Given the description of an element on the screen output the (x, y) to click on. 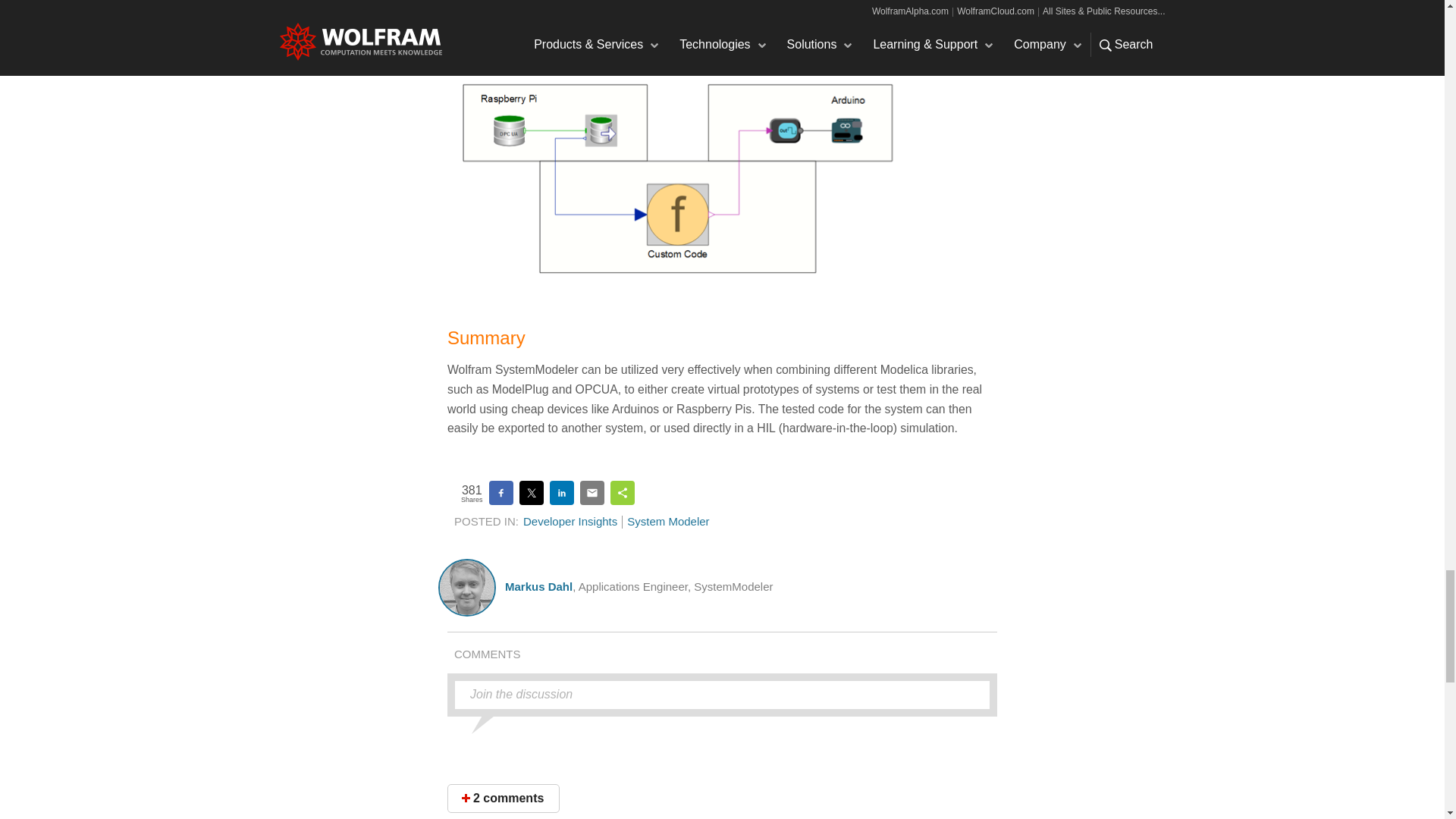
SystemModeler OPCUA Arduino custom mode map (677, 177)
